Given the description of an element on the screen output the (x, y) to click on. 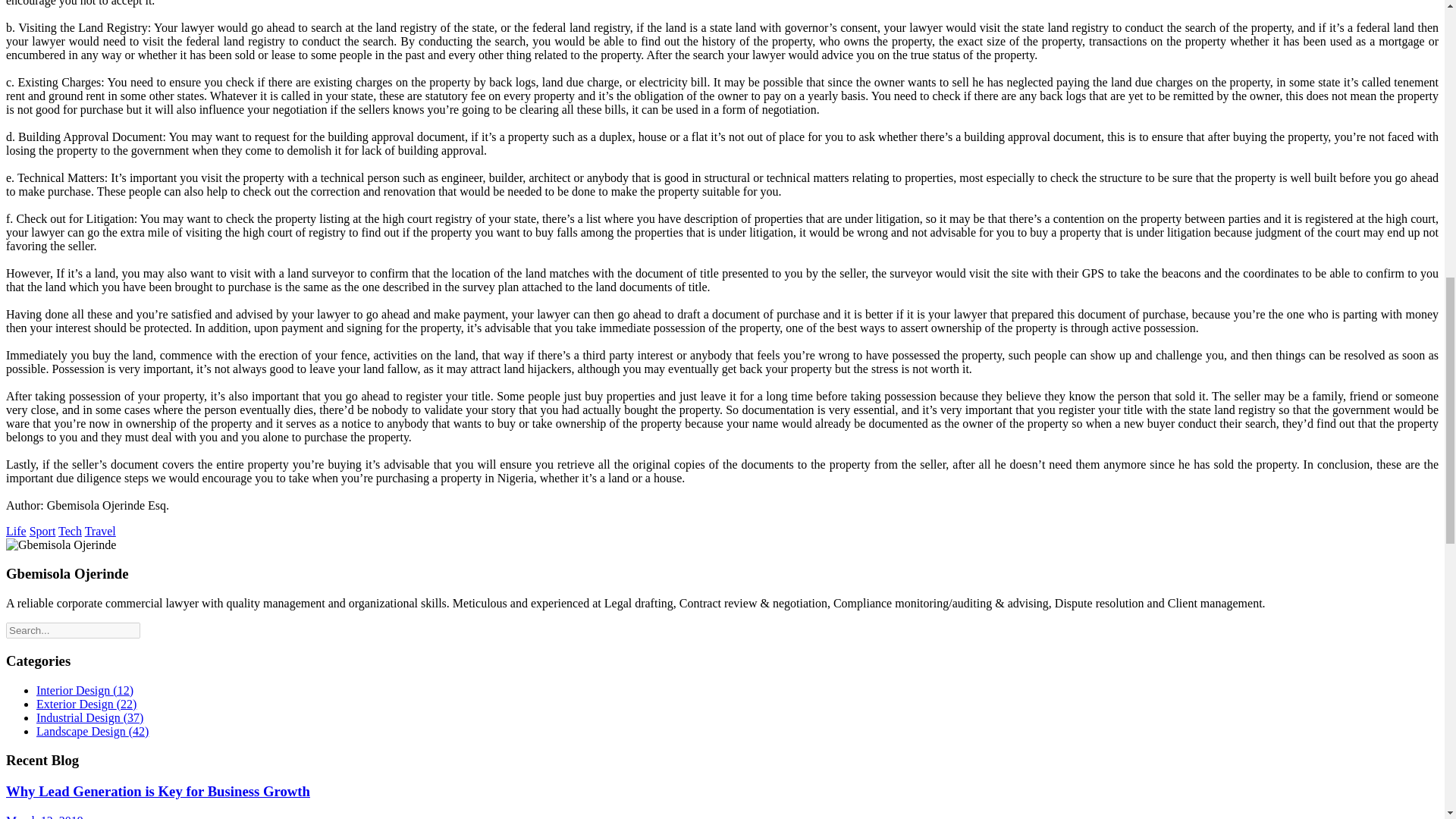
Why Lead Generation is Key for Business Growth (157, 790)
March 12, 2019 (43, 816)
Life (15, 530)
Travel (100, 530)
Sport (42, 530)
Tech (69, 530)
